Given the description of an element on the screen output the (x, y) to click on. 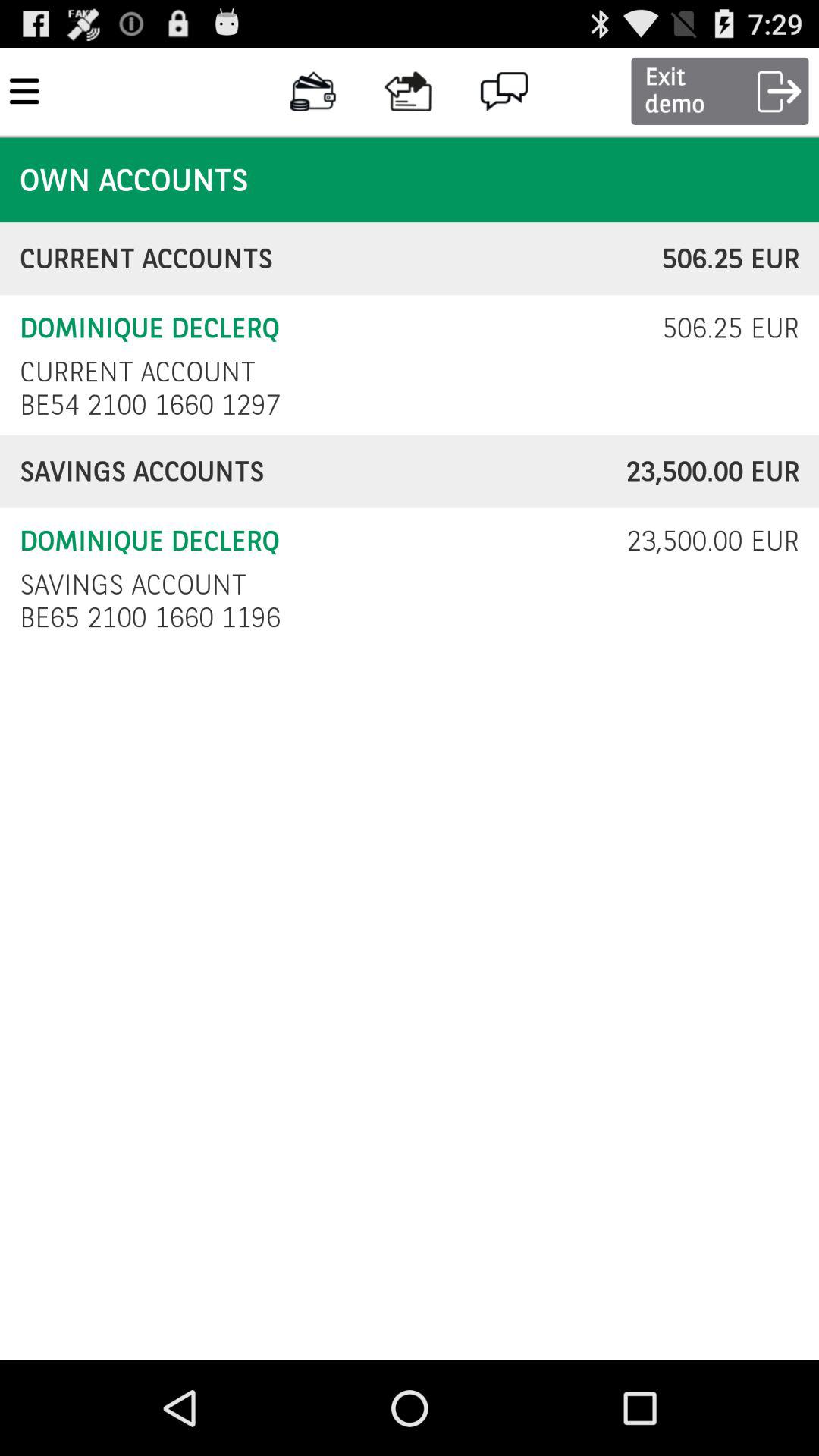
open the icon below savings account (153, 617)
